Given the description of an element on the screen output the (x, y) to click on. 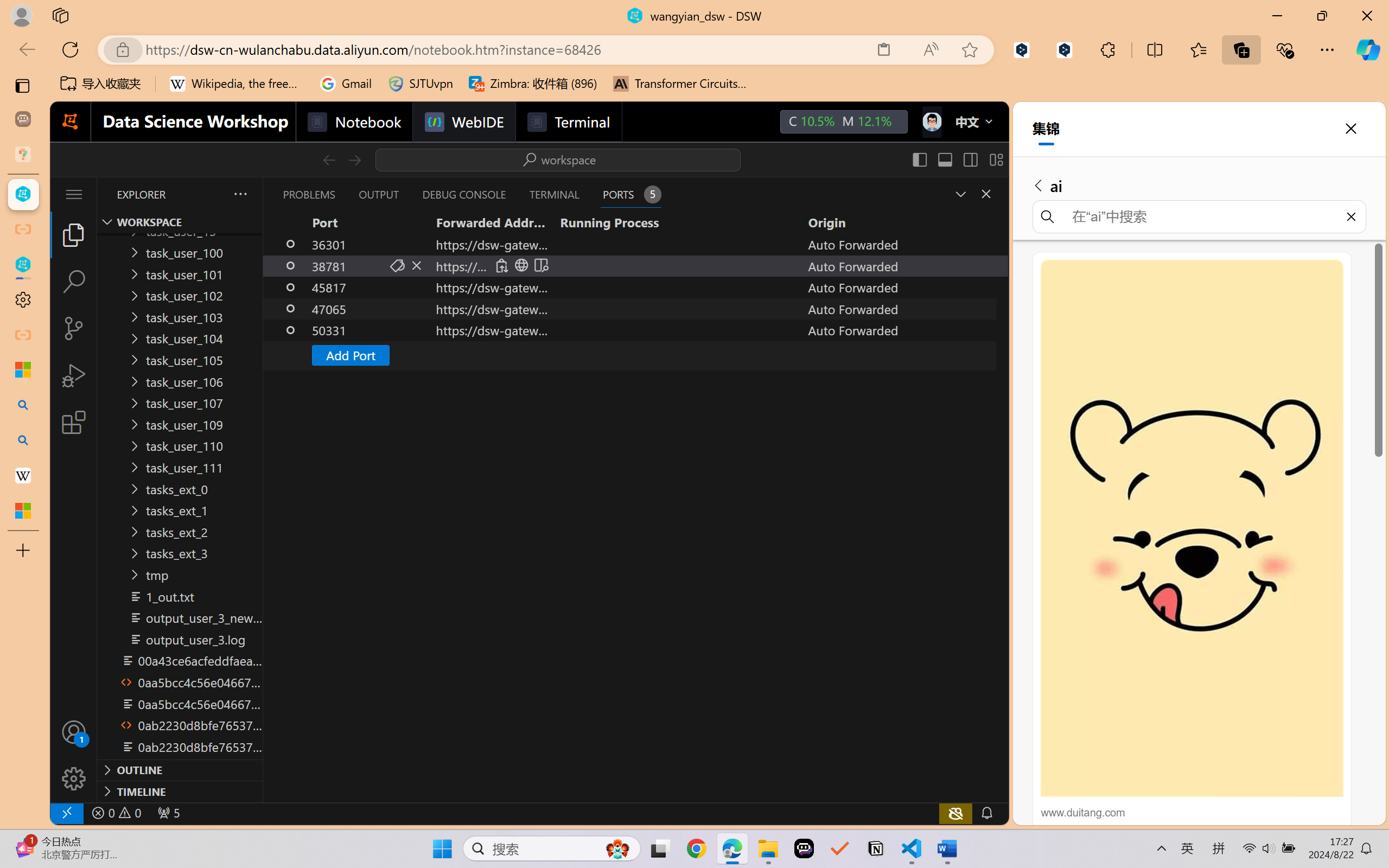
Transformer Circuits Thread (680, 83)
Restore Panel Size (959, 193)
Views and More Actions... (239, 193)
Explorer (Ctrl+Shift+E) (73, 234)
No Problems (115, 812)
Outline Section (179, 769)
Microsoft security help and learning (22, 369)
icon (930, 121)
